Given the description of an element on the screen output the (x, y) to click on. 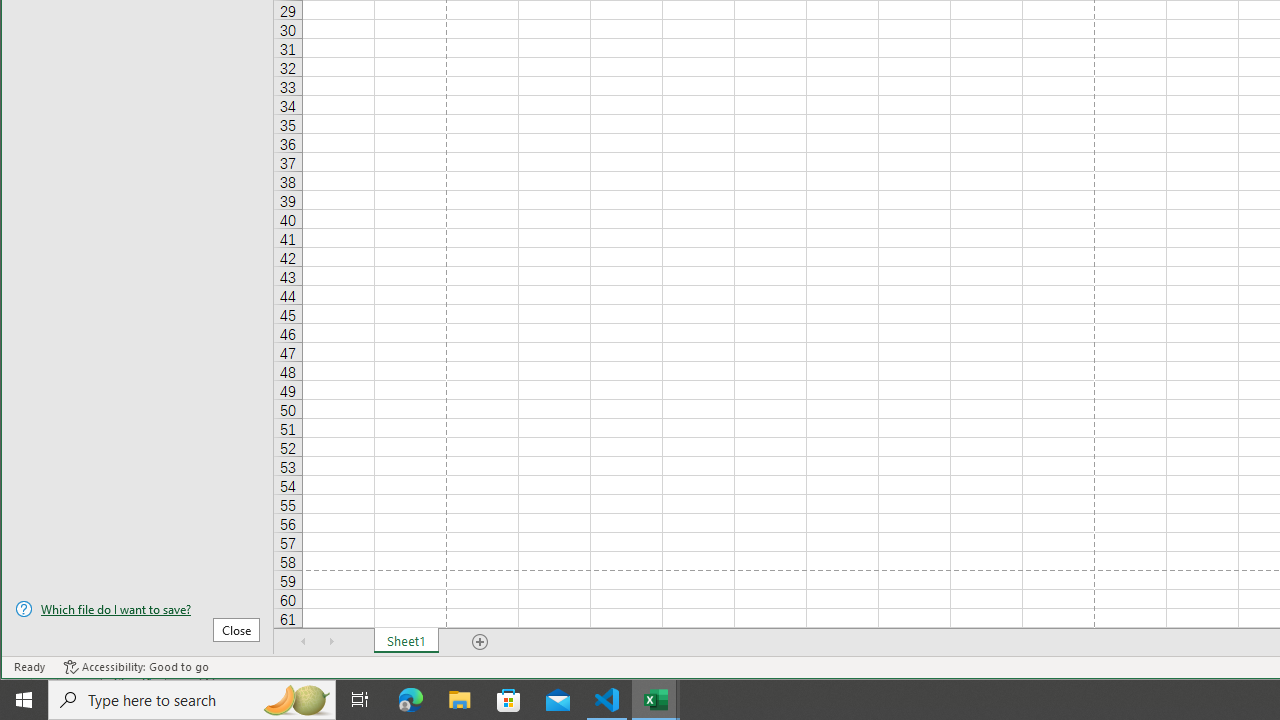
Microsoft Edge (411, 699)
Which file do I want to save? (137, 609)
Search highlights icon opens search home window (295, 699)
Microsoft Store (509, 699)
Start (24, 699)
Excel - 2 running windows (656, 699)
File Explorer (460, 699)
Type here to search (191, 699)
